Given the description of an element on the screen output the (x, y) to click on. 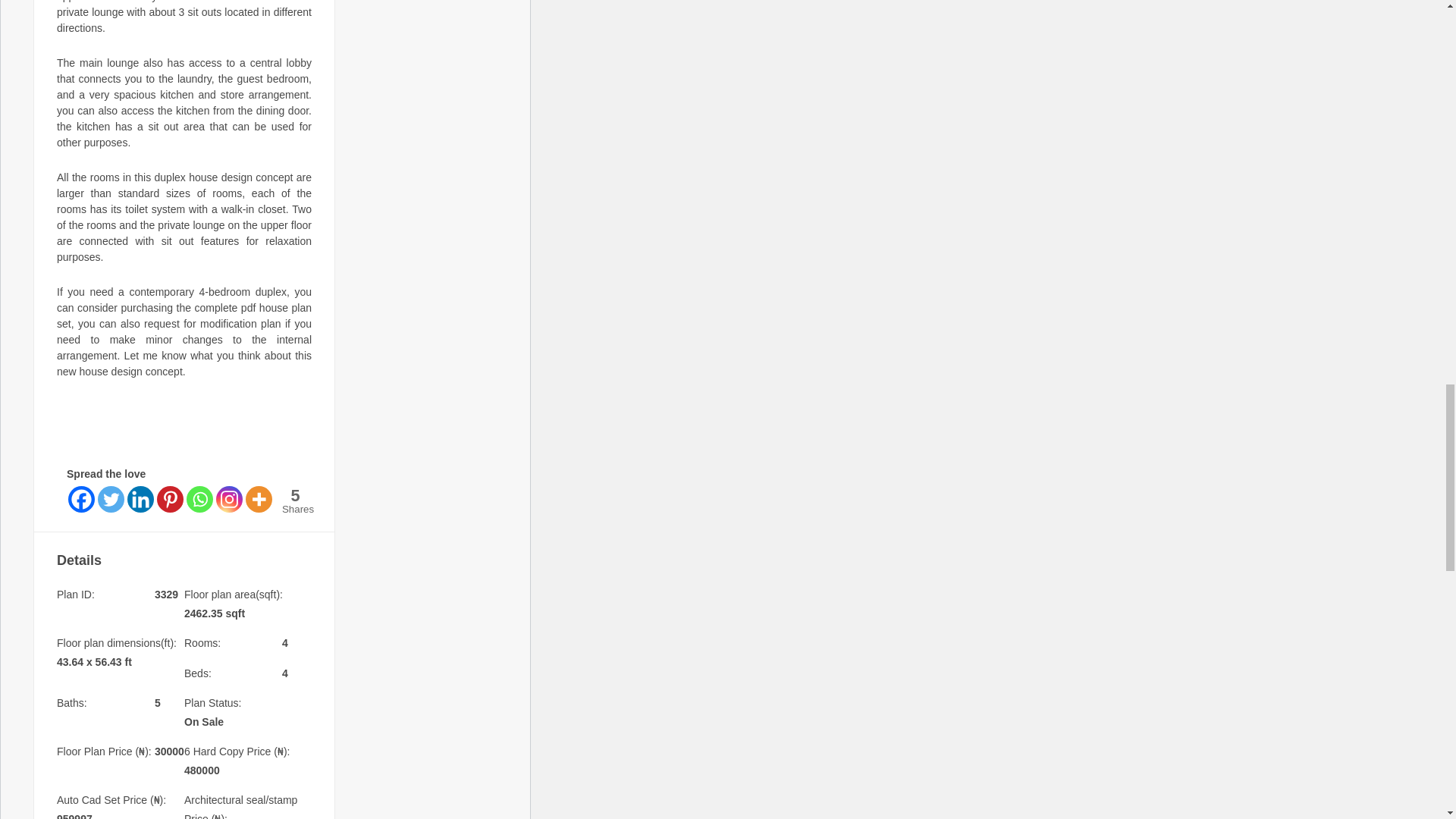
Total Shares (295, 500)
Twitter (110, 499)
Whatsapp (199, 499)
Facebook (81, 499)
Instagram (229, 499)
Linkedin (141, 499)
More (259, 499)
Pinterest (170, 499)
